Given the description of an element on the screen output the (x, y) to click on. 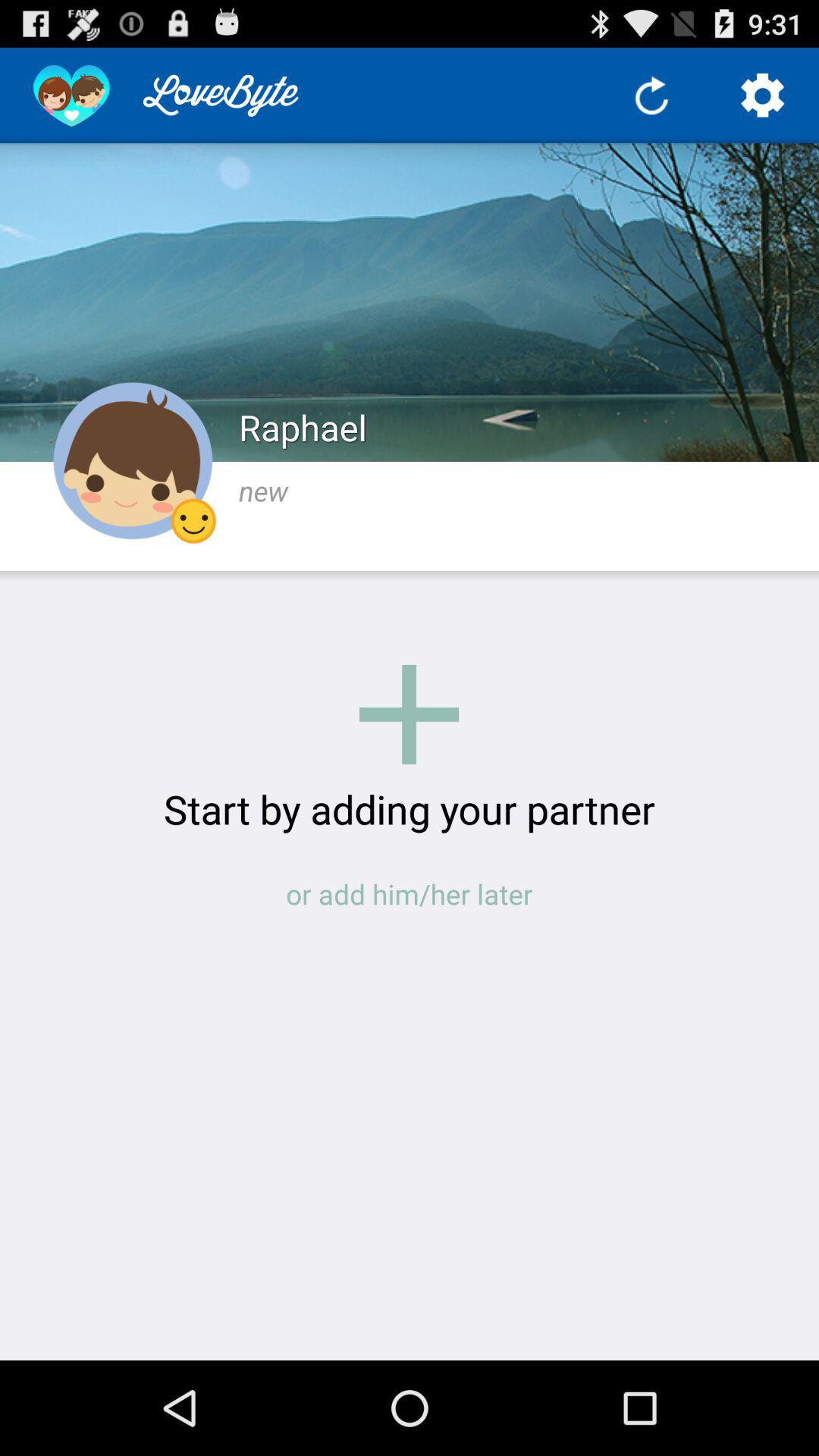
open options (763, 95)
